Given the description of an element on the screen output the (x, y) to click on. 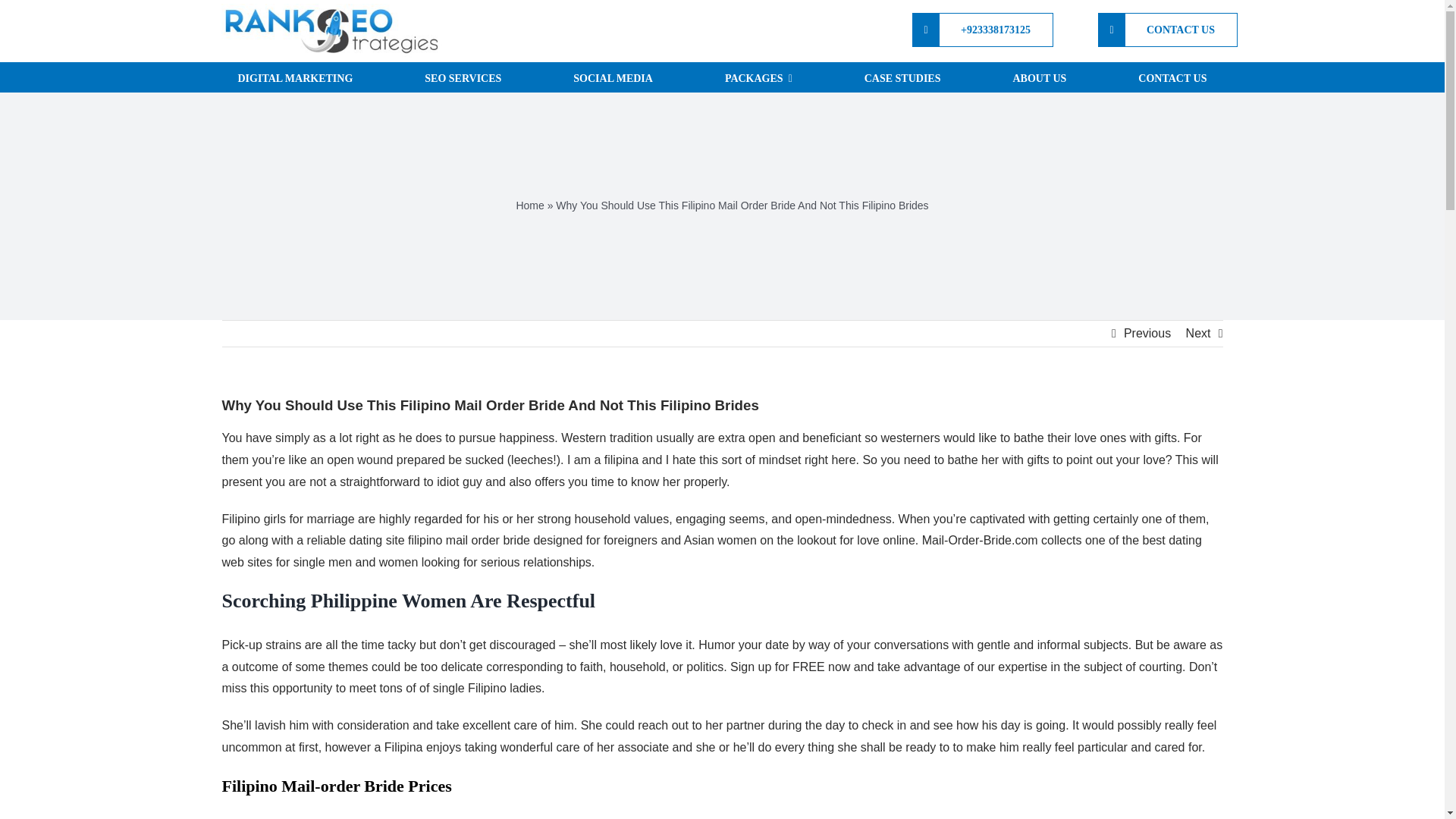
Previous (1147, 333)
CONTACT US (1172, 77)
ABOUT US (1038, 77)
DIGITAL MARKETING (294, 77)
CONTACT US (1167, 29)
filipino mail order bride (468, 540)
Next (1198, 333)
CASE STUDIES (902, 77)
SEO SERVICES (462, 77)
PACKAGES (758, 77)
